Given the description of an element on the screen output the (x, y) to click on. 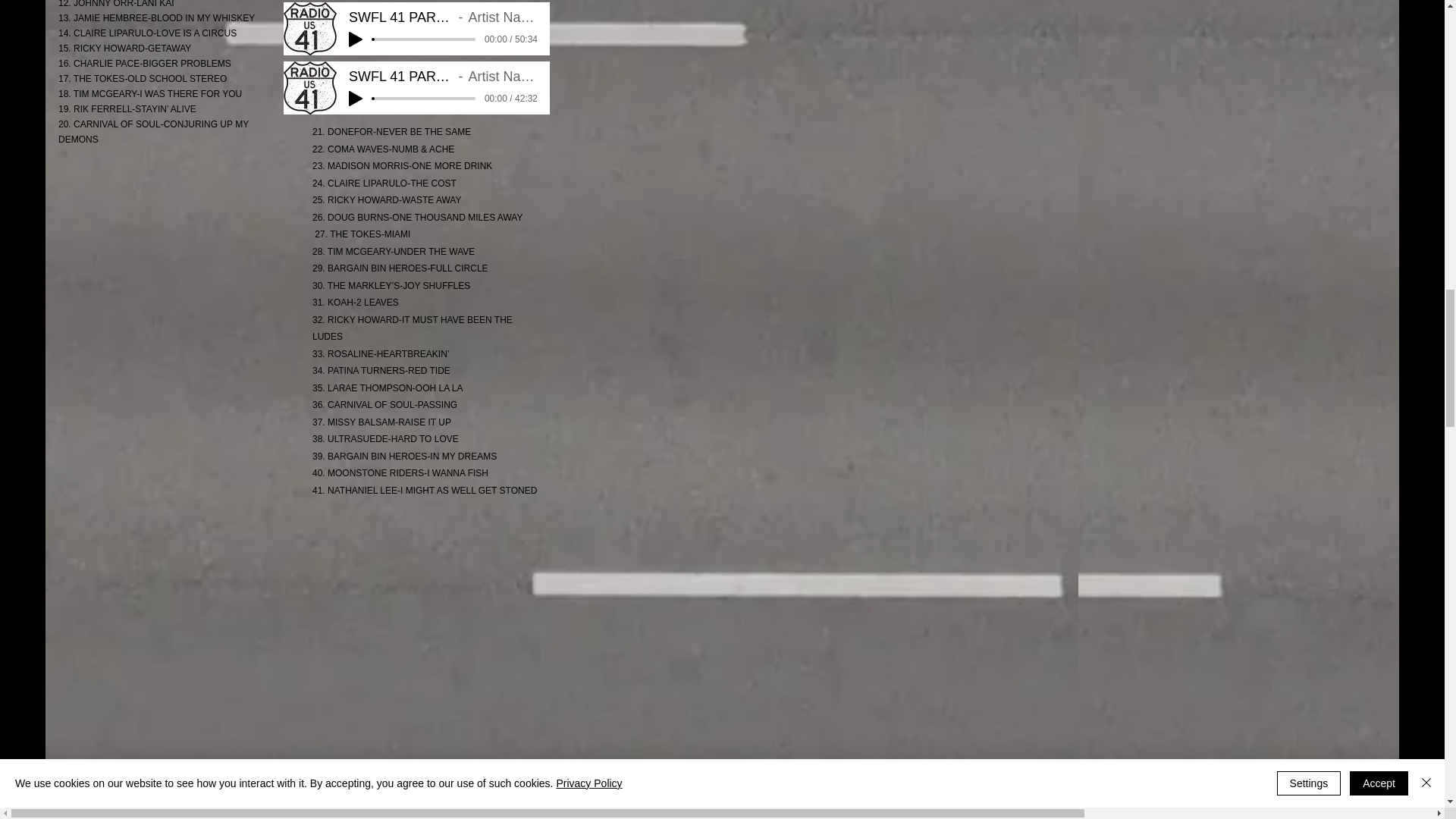
0 (424, 98)
0 (424, 38)
